Given the description of an element on the screen output the (x, y) to click on. 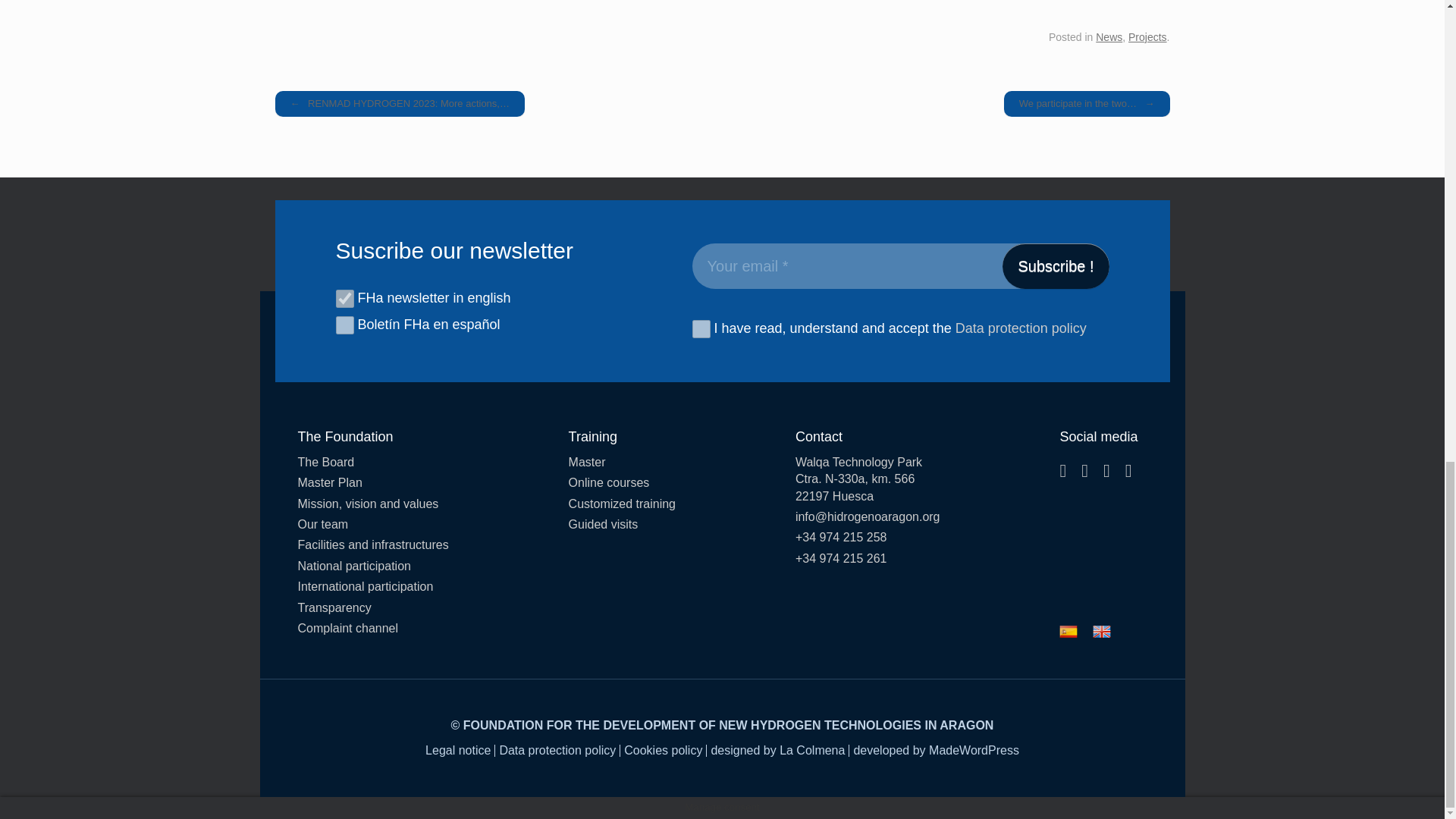
Subscribe ! (1055, 266)
Subscribe ! (1055, 266)
Your email (899, 266)
9 (343, 298)
News (1109, 37)
3 (343, 325)
Data protection policy (1020, 328)
Projects (1147, 37)
1 (700, 329)
The Board (372, 462)
